Given the description of an element on the screen output the (x, y) to click on. 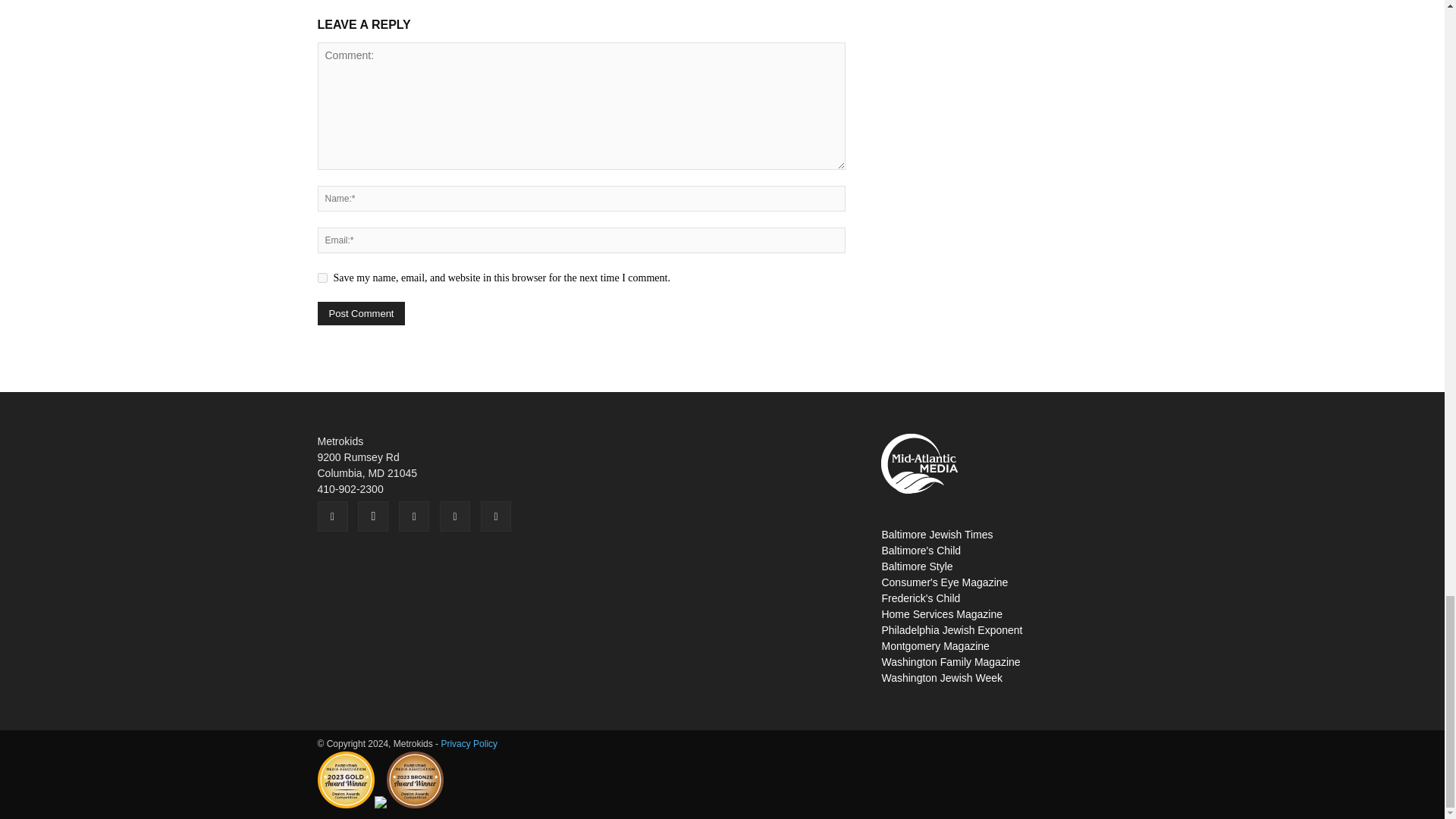
Post Comment (360, 313)
yes (321, 277)
